Given the description of an element on the screen output the (x, y) to click on. 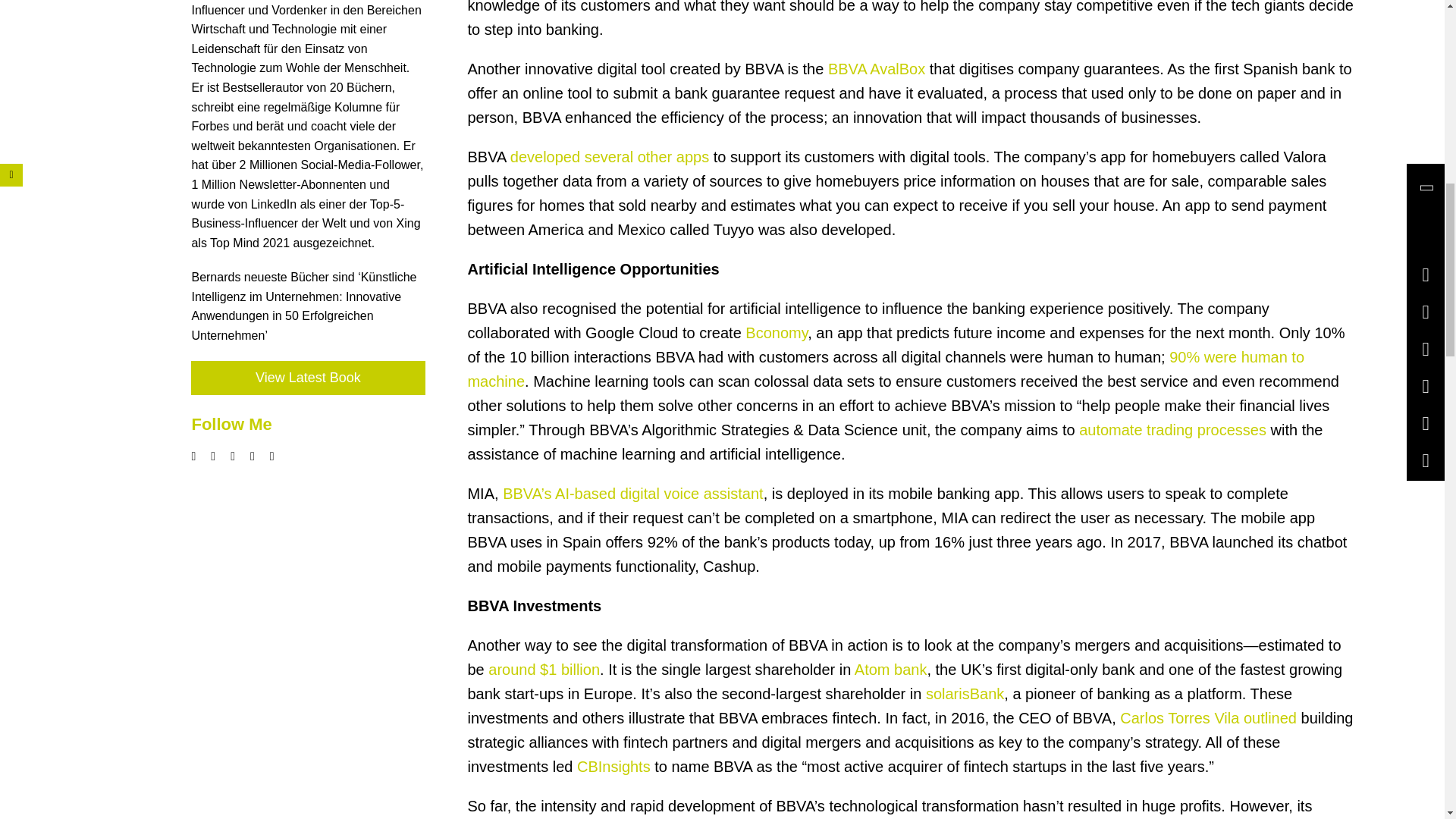
View Latest Book (307, 377)
